Given the description of an element on the screen output the (x, y) to click on. 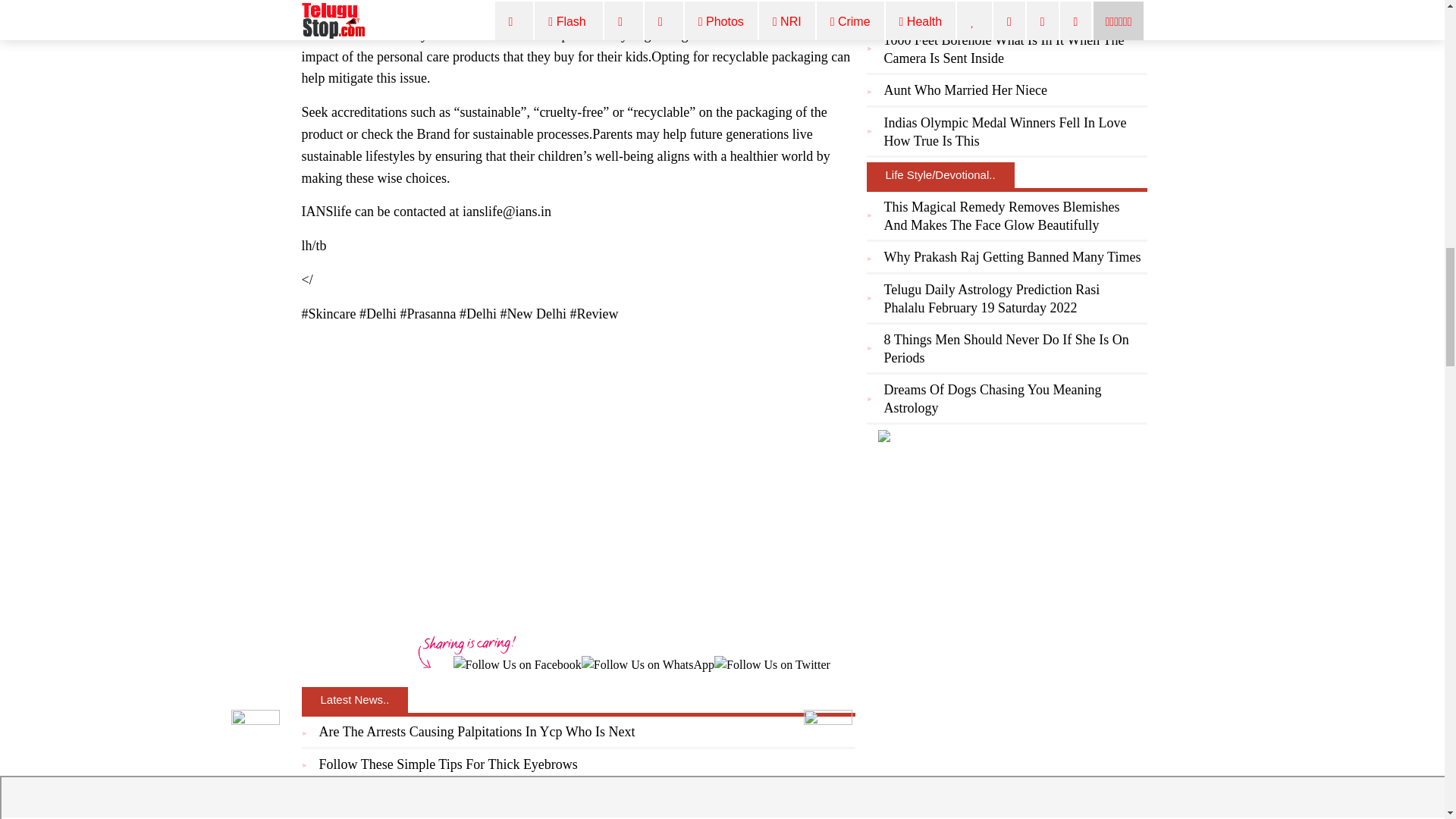
Try These For White And Shiny Elbows (428, 795)
Follow Us on Facebook (516, 665)
Are The Arrests Causing Palpitations In Ycp Who Is Next (476, 731)
Follow Us on Twitter (771, 665)
Follow These Simple Tips For Thick Eyebrows (447, 764)
Follow Us on WhatsApp (647, 665)
